Given the description of an element on the screen output the (x, y) to click on. 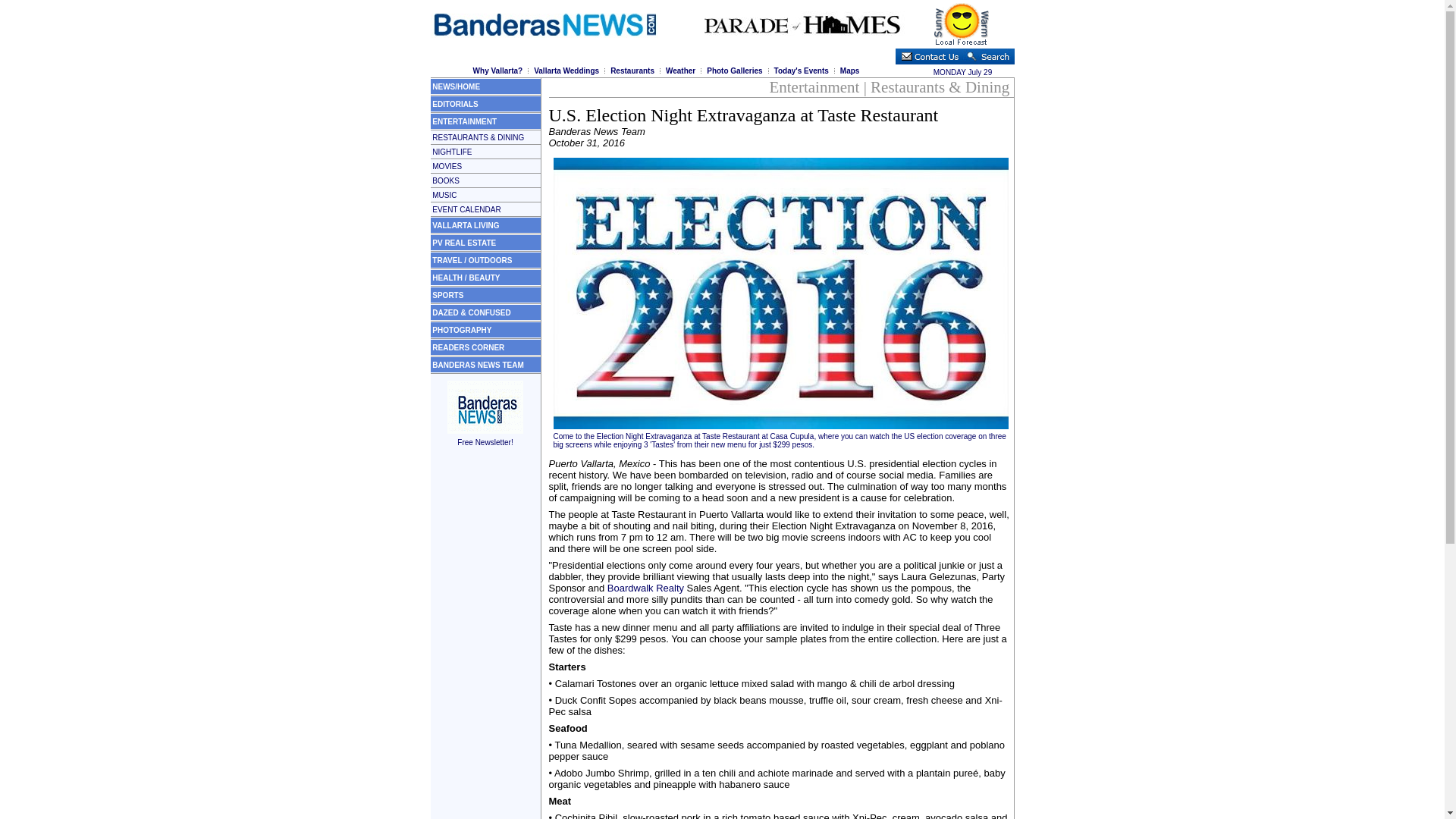
BOOKS (446, 180)
ENTERTAINMENT (464, 121)
SPORTS (447, 295)
PHOTOGRAPHY (462, 329)
Boardwalk Realty (645, 587)
Free Newsletter! (484, 436)
Weather (680, 70)
MUSIC (444, 194)
EVENT CALENDAR (466, 208)
READERS CORNER (467, 347)
Photo Galleries (733, 70)
EDITORIALS (454, 103)
BANDERAS NEWS TEAM (478, 365)
Restaurants (631, 70)
Maps (850, 70)
